Given the description of an element on the screen output the (x, y) to click on. 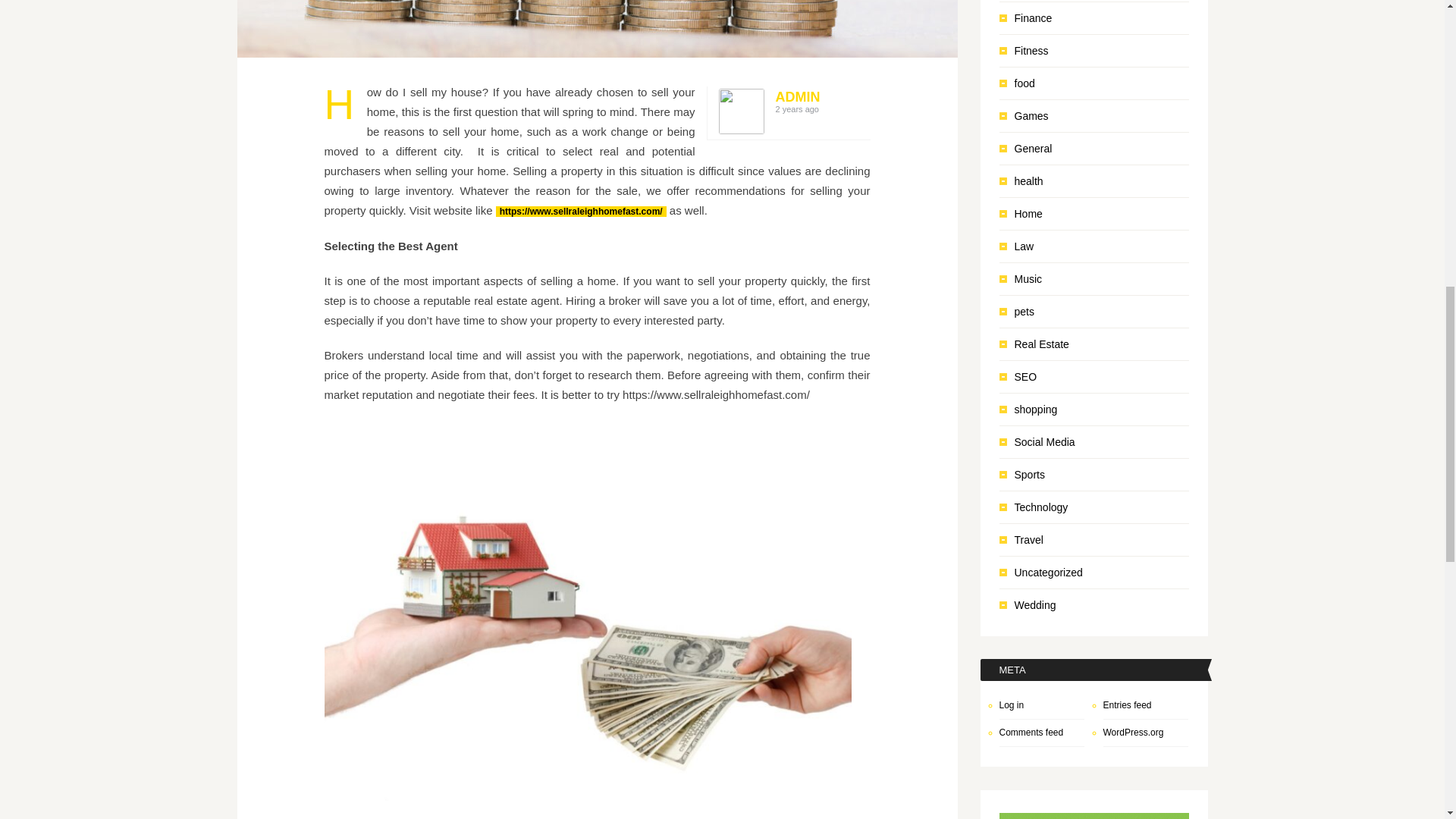
ADMIN (796, 96)
Posts by admin (796, 96)
